Given the description of an element on the screen output the (x, y) to click on. 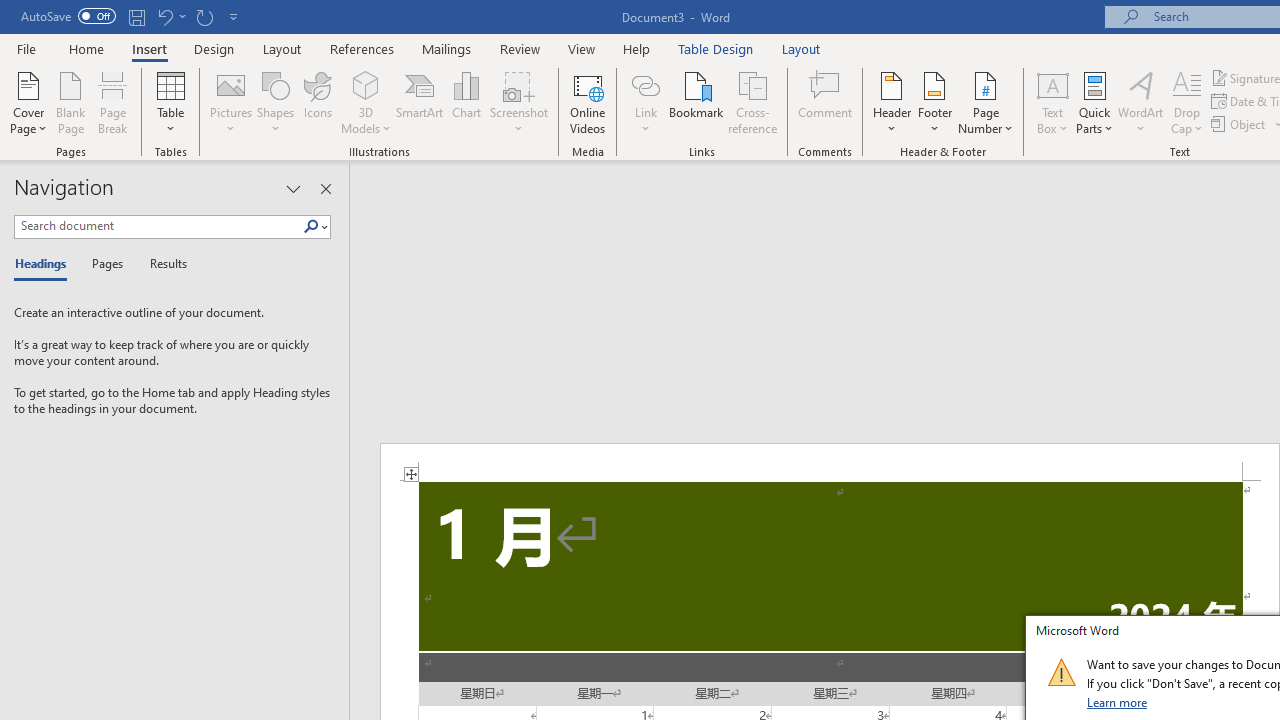
Task Pane Options (293, 188)
Cross-reference... (752, 102)
Search (311, 227)
Quick Access Toolbar (131, 16)
AutoSave (68, 16)
3D Models (366, 84)
Save (136, 15)
Search (315, 227)
3D Models (366, 102)
Shapes (275, 102)
Online Videos... (588, 102)
Help (637, 48)
Text Box (1052, 102)
